Given the description of an element on the screen output the (x, y) to click on. 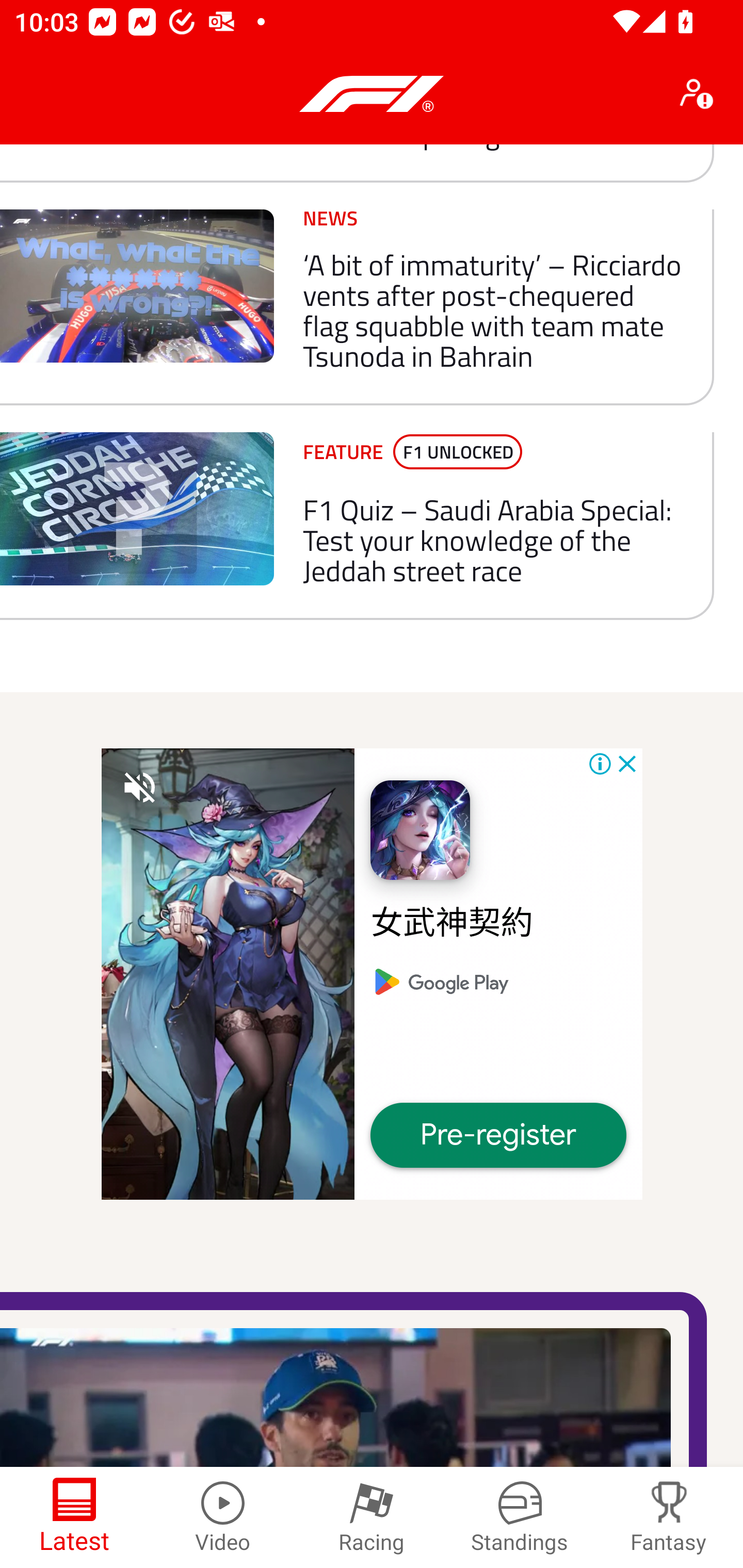
Pre-register (498, 1135)
Video (222, 1517)
Racing (371, 1517)
Standings (519, 1517)
Fantasy (668, 1517)
